Given the description of an element on the screen output the (x, y) to click on. 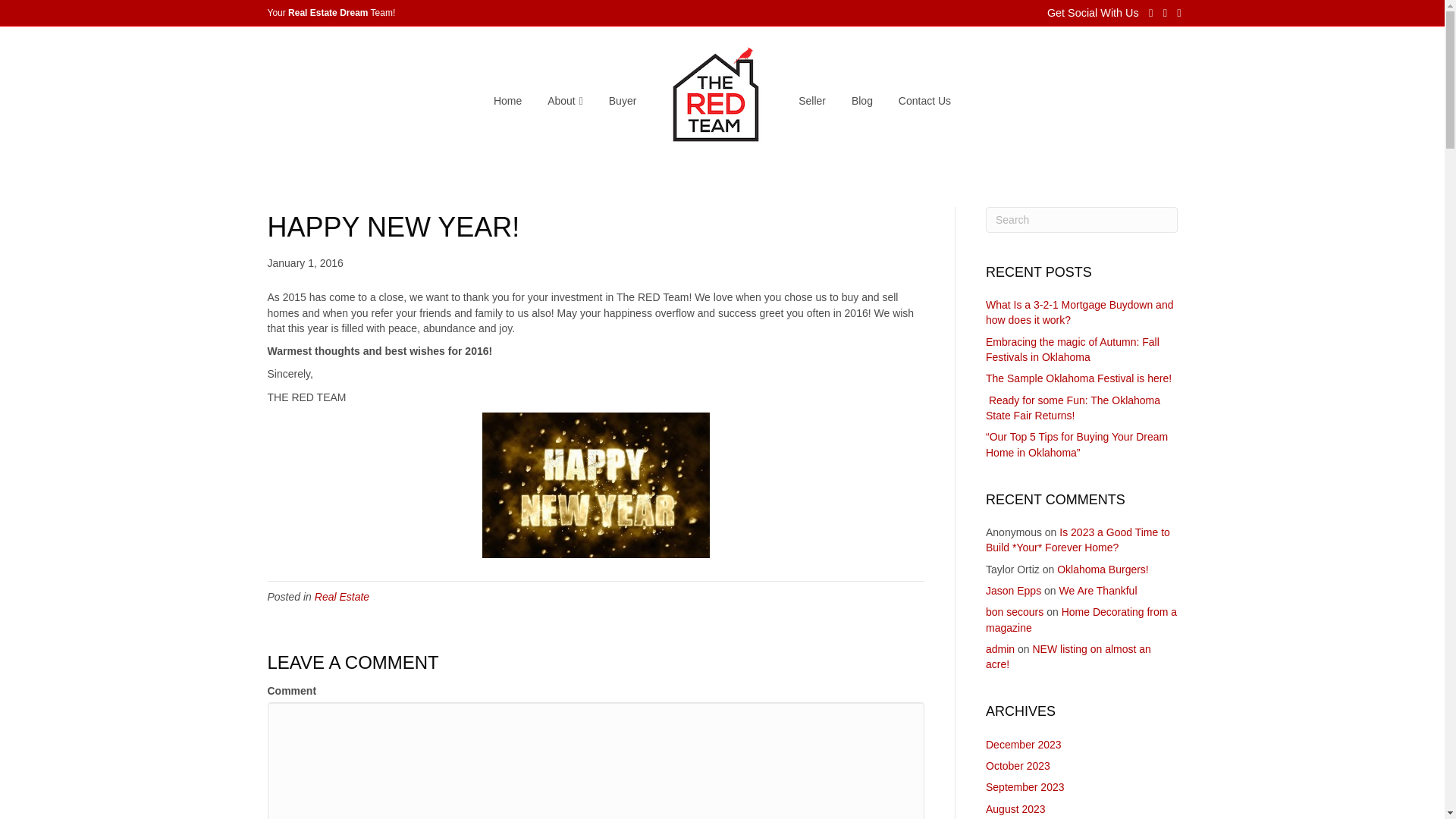
Jason Epps (1013, 590)
Embracing the magic of Autumn: Fall Festivals in Oklahoma  (1071, 349)
Contact Us (924, 101)
About (564, 101)
What Is a 3-2-1 Mortgage Buydown and how does it work? (1079, 311)
The Sample Oklahoma Festival is here! (1078, 378)
Get Social With Us (1092, 13)
Buyer (621, 101)
admin (999, 648)
bon secours (1014, 612)
